Given the description of an element on the screen output the (x, y) to click on. 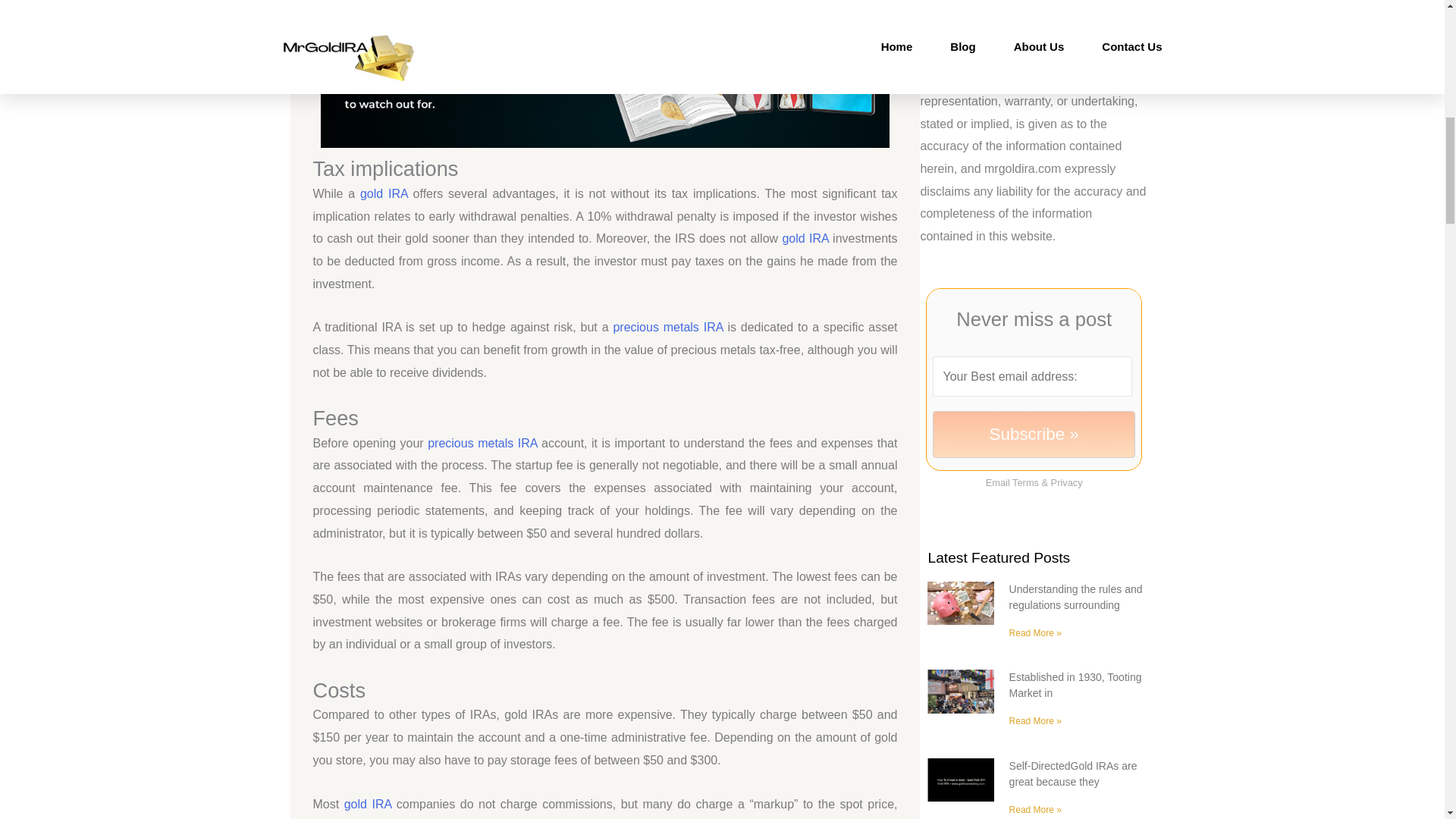
Your Best email address: (1032, 376)
gold IRA (367, 803)
precious metals IRA (482, 442)
precious metals IRA (667, 327)
gold IRA (383, 193)
gold IRA (804, 237)
